Given the description of an element on the screen output the (x, y) to click on. 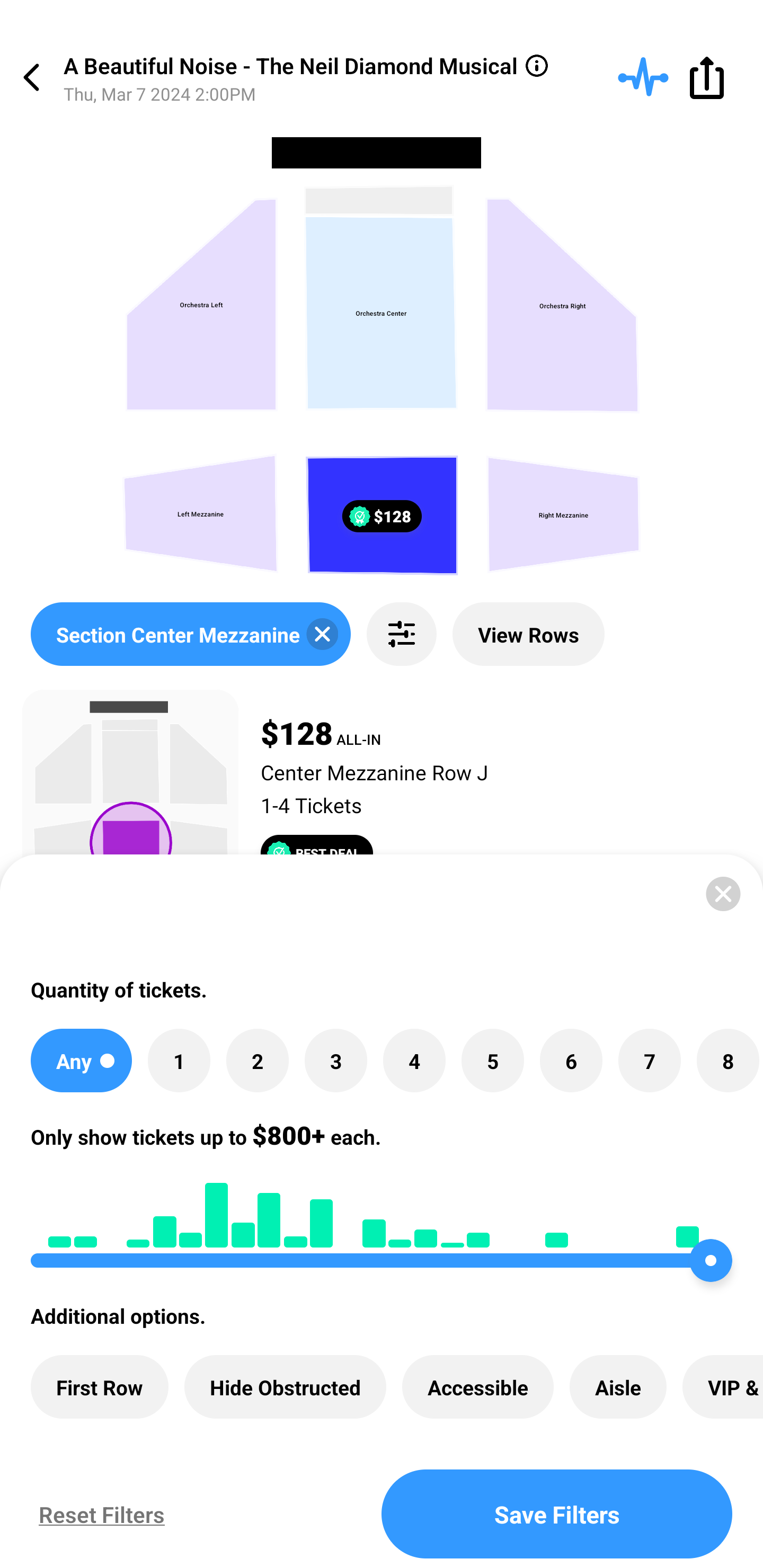
Any (80, 1060)
1 (179, 1060)
2 (257, 1060)
3 (335, 1060)
4 (414, 1060)
5 (492, 1060)
6 (571, 1060)
7 (649, 1060)
8 (727, 1060)
First Row (99, 1386)
Hide Obstructed (285, 1386)
Accessible (477, 1386)
Aisle (617, 1386)
Save Filters (556, 1513)
Reset Filters (97, 1513)
